Given the description of an element on the screen output the (x, y) to click on. 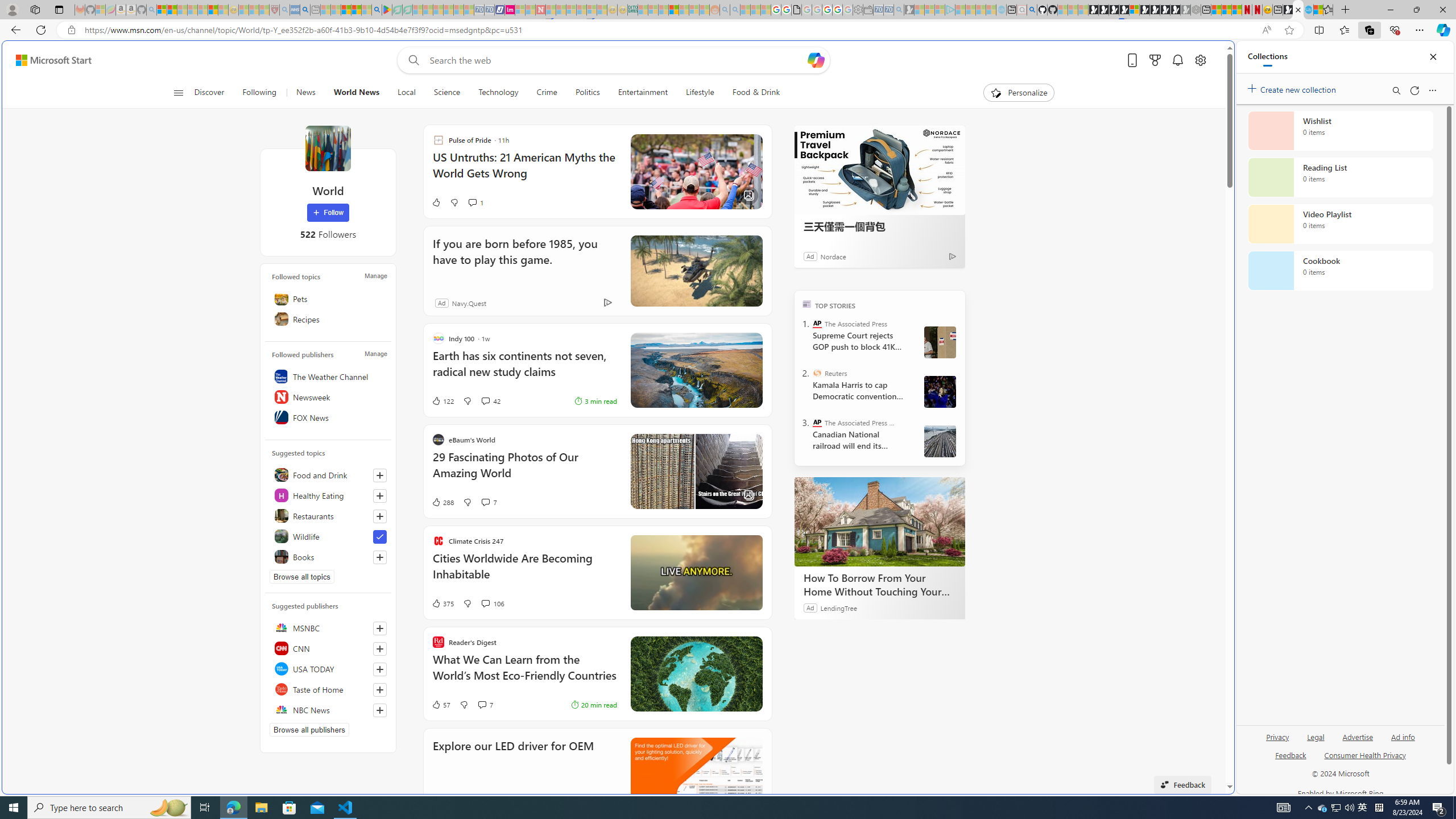
Taste of Home (327, 688)
Bluey: Let's Play! - Apps on Google Play (387, 9)
29 Fascinating Photos of Our Amazing World (524, 470)
Reuters (816, 372)
Cities Worldwide Are Becoming Inhabitable (524, 572)
